Given the description of an element on the screen output the (x, y) to click on. 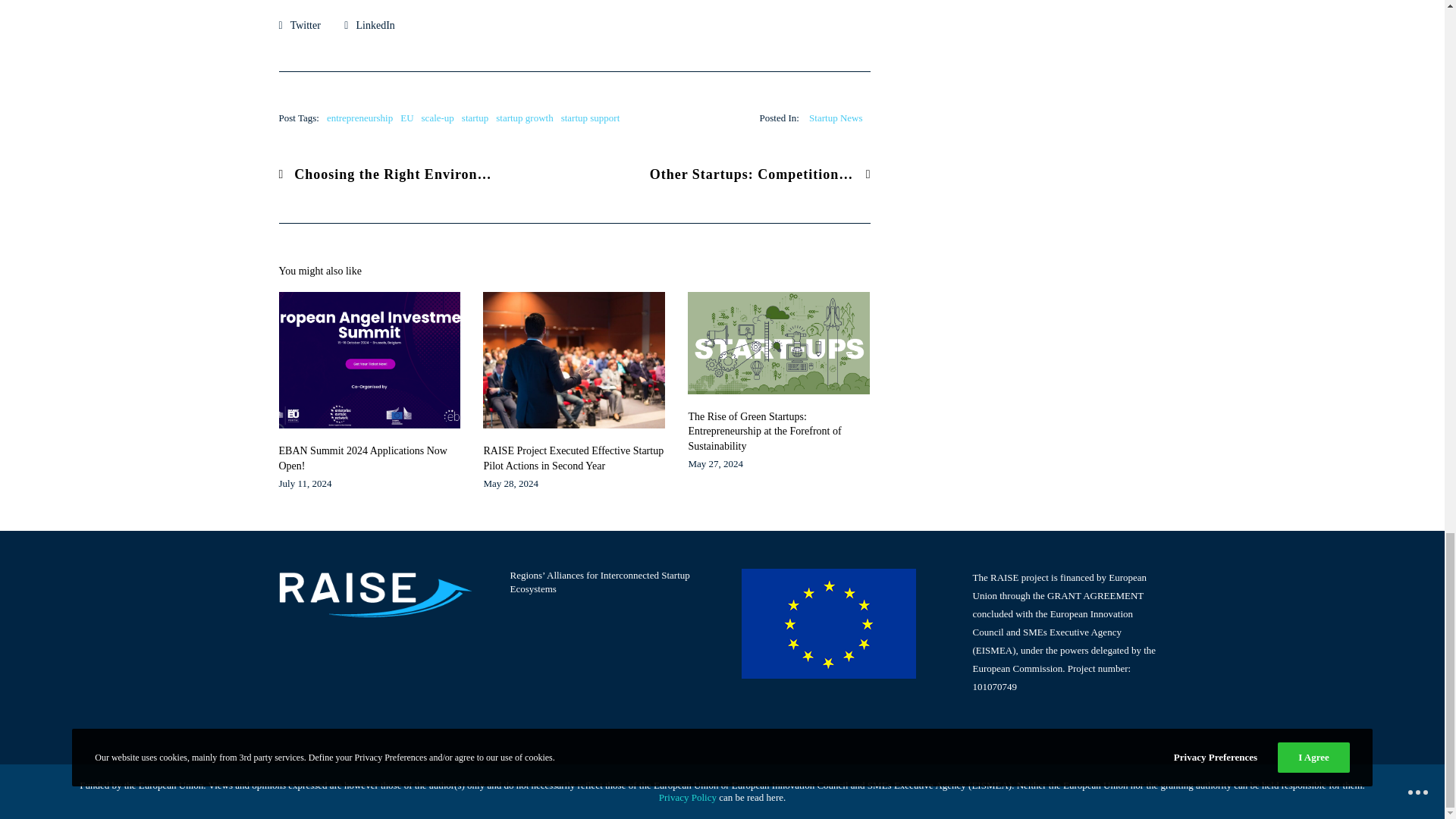
startup support (590, 117)
startup (474, 117)
EBAN Summit 2024 Applications Now Open! (370, 458)
EU (406, 117)
Twitter (299, 24)
entrepreneurship (359, 117)
